Given the description of an element on the screen output the (x, y) to click on. 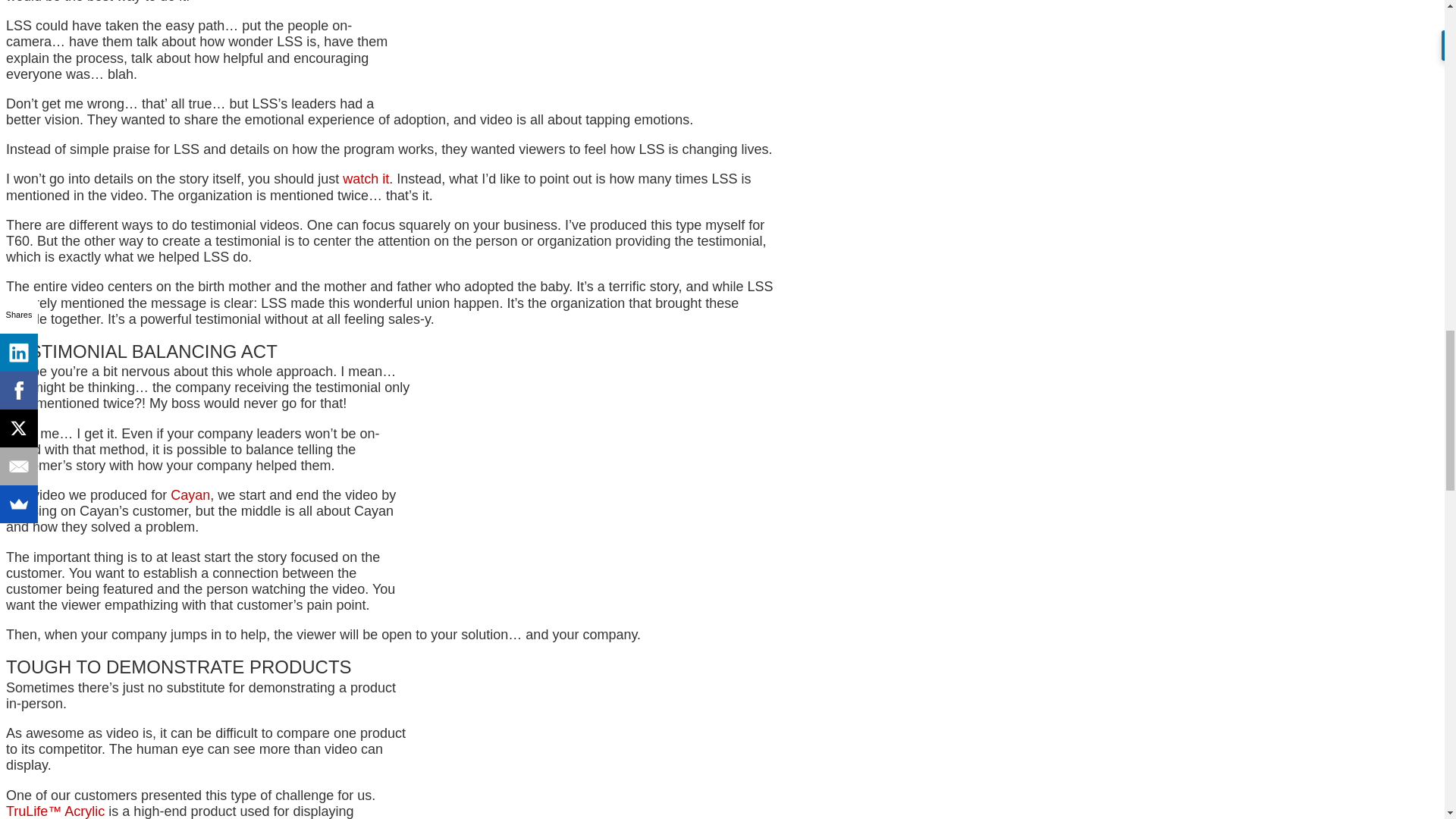
YouTube player (601, 45)
Cayan (189, 494)
YouTube player (601, 753)
YouTube player (601, 473)
watch it (365, 178)
